Given the description of an element on the screen output the (x, y) to click on. 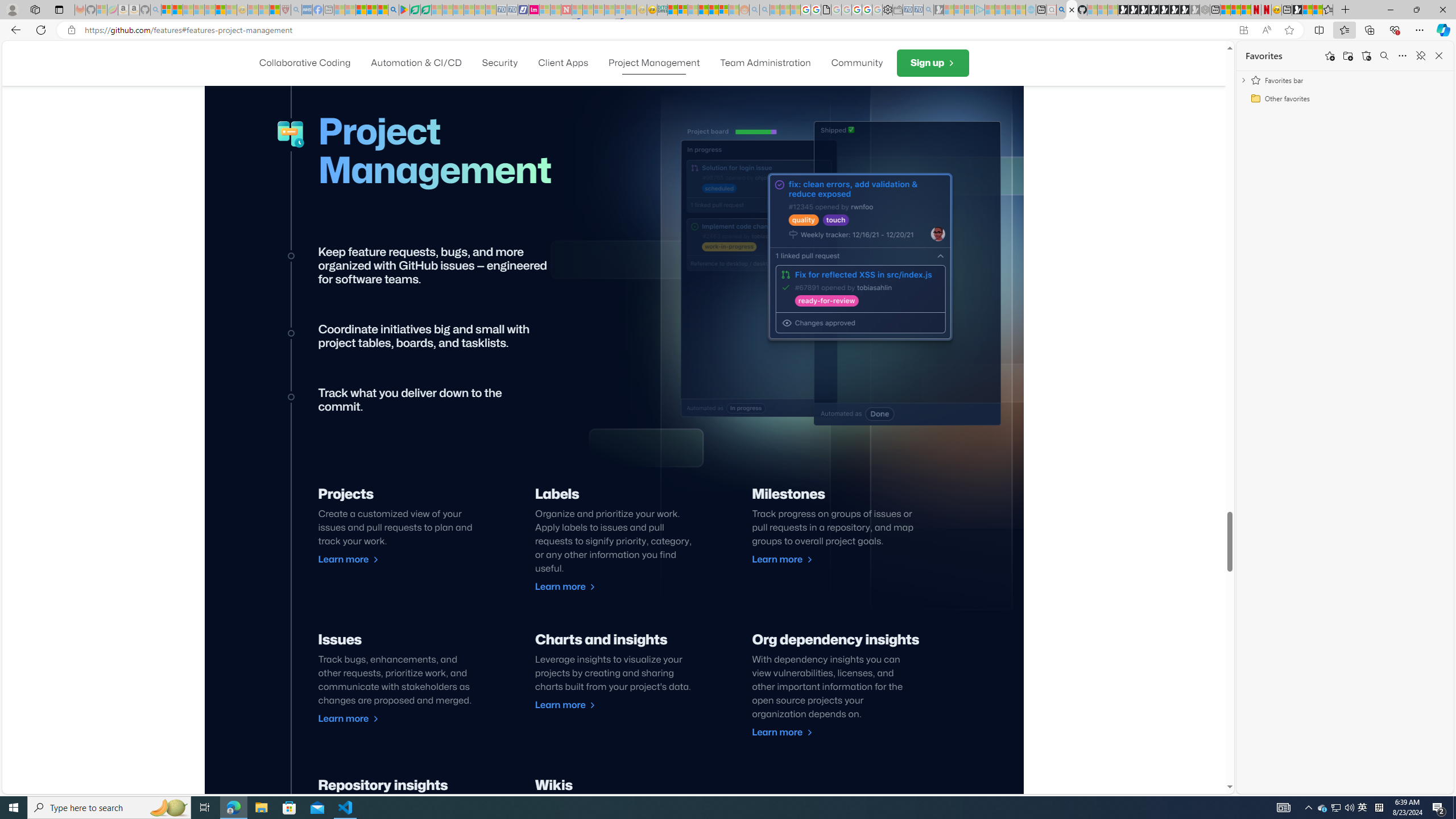
Cheap Car Rentals - Save70.com - Sleeping (918, 9)
Community (857, 62)
Unpin favorites (1420, 55)
Split screen (1318, 29)
Expert Portfolios (703, 9)
Favorites (1327, 9)
Automation & CI/CD (416, 62)
Cheap Hotels - Save70.com - Sleeping (512, 9)
Microsoft Start Gaming - Sleeping (938, 9)
